Given the description of an element on the screen output the (x, y) to click on. 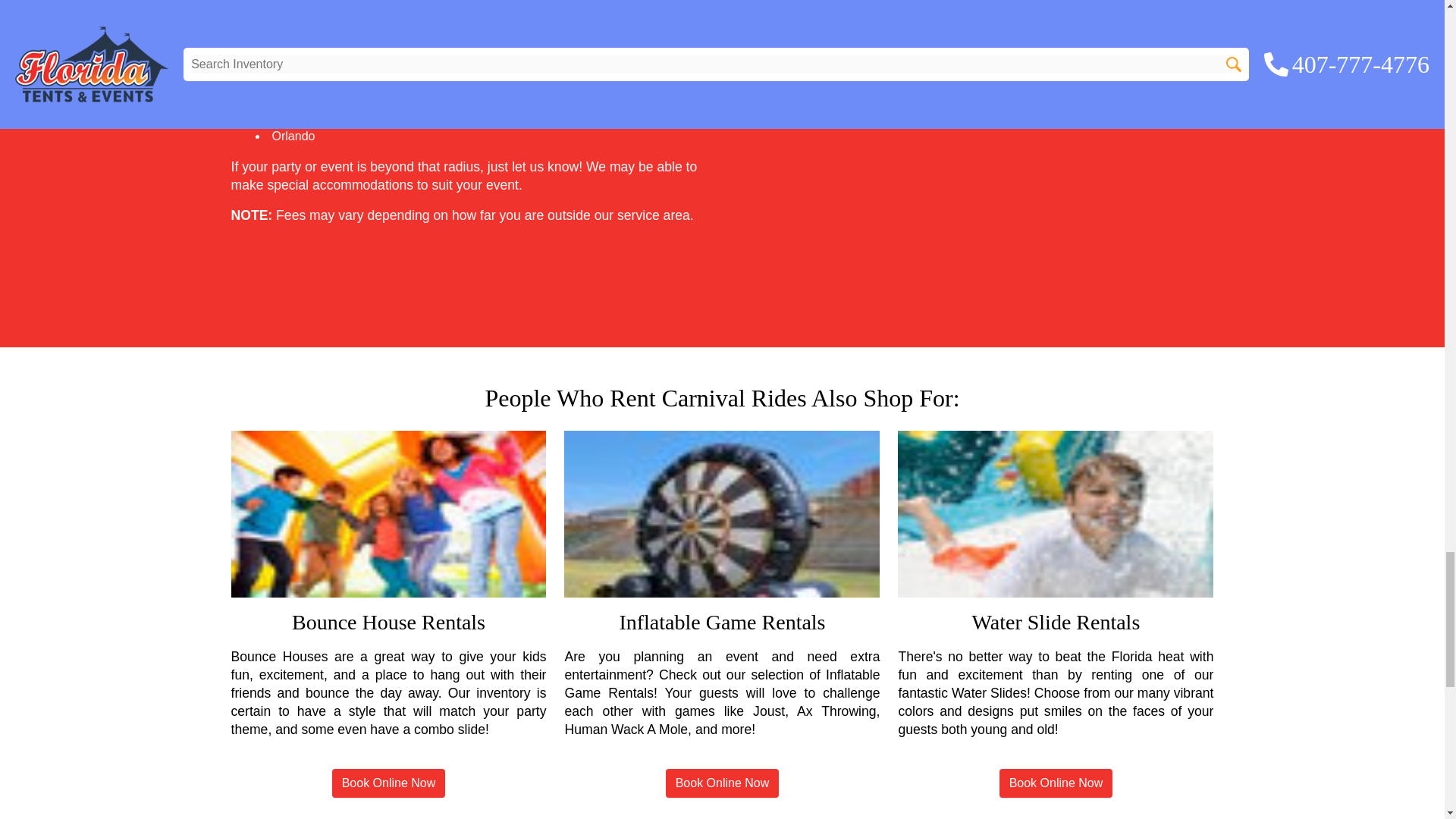
Windermere Bounce House Rentals (388, 513)
Windermere Inflatable Game Rentals (721, 513)
Windermere Water Slide Rentals (1055, 513)
